Given the description of an element on the screen output the (x, y) to click on. 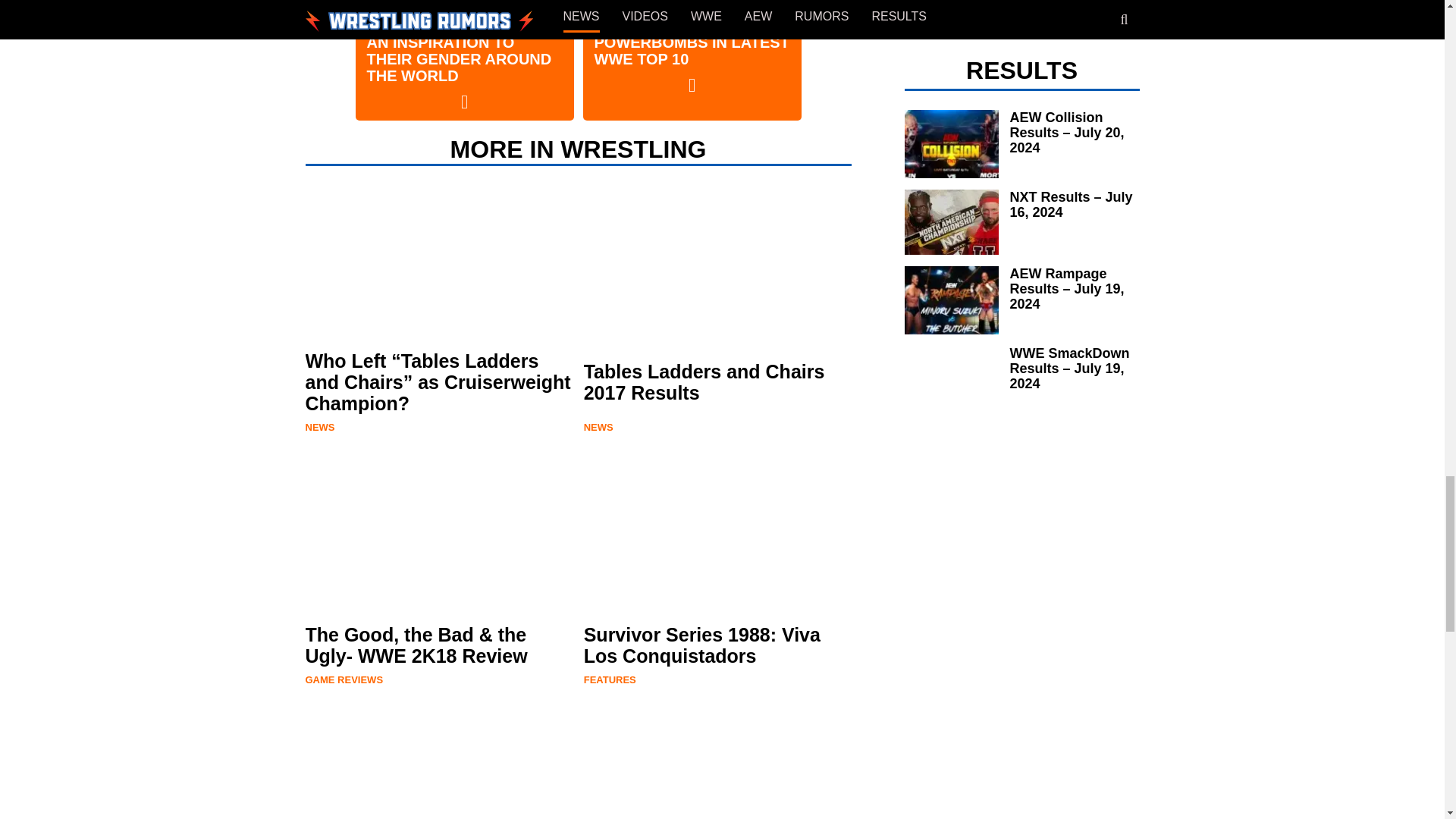
NEWS (319, 427)
Features (609, 679)
Game Reviews (343, 679)
GAME REVIEWS (343, 679)
NEWS (597, 427)
News (597, 427)
News (319, 427)
